Given the description of an element on the screen output the (x, y) to click on. 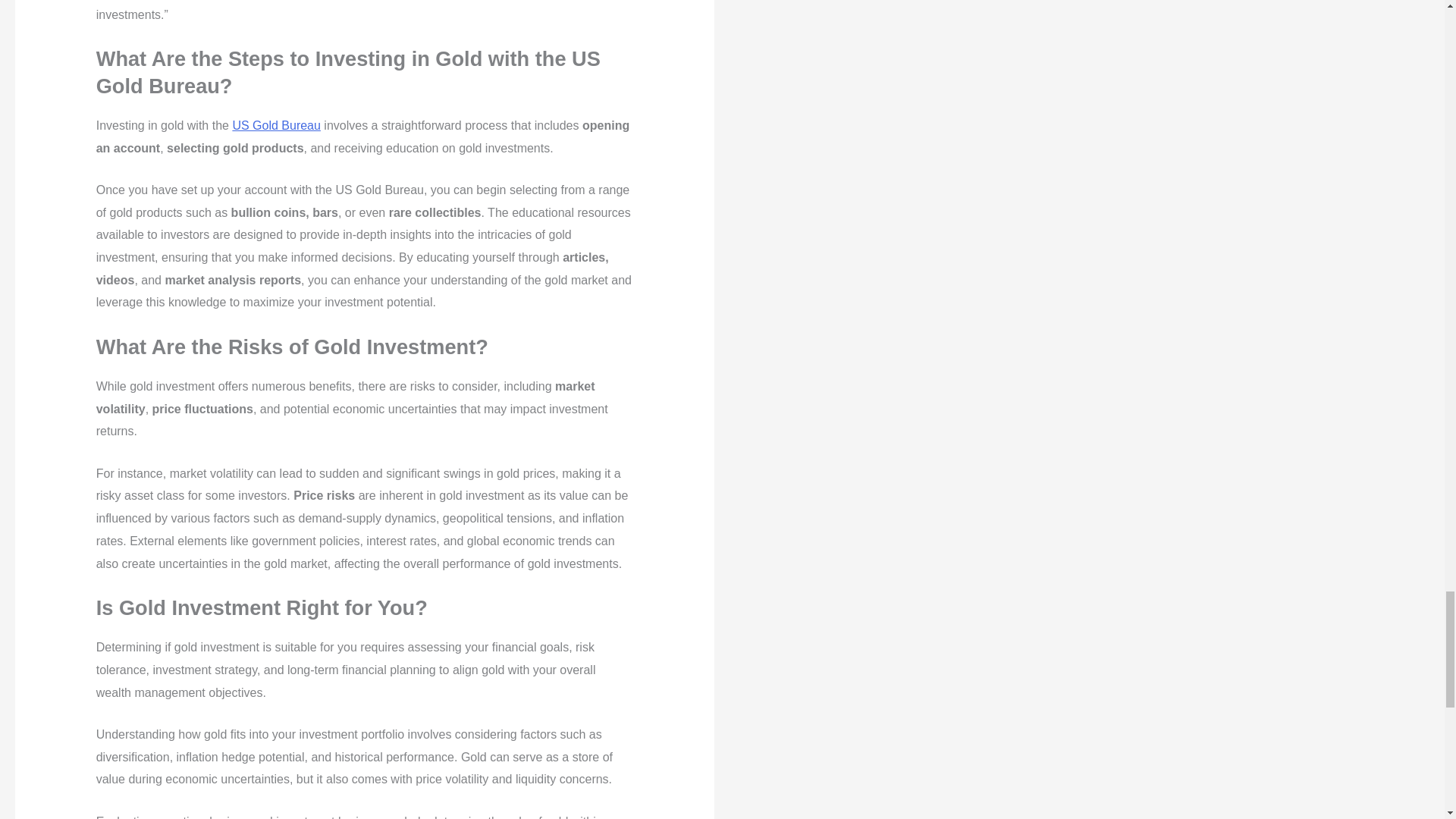
US Gold Bureau (275, 124)
